Given the description of an element on the screen output the (x, y) to click on. 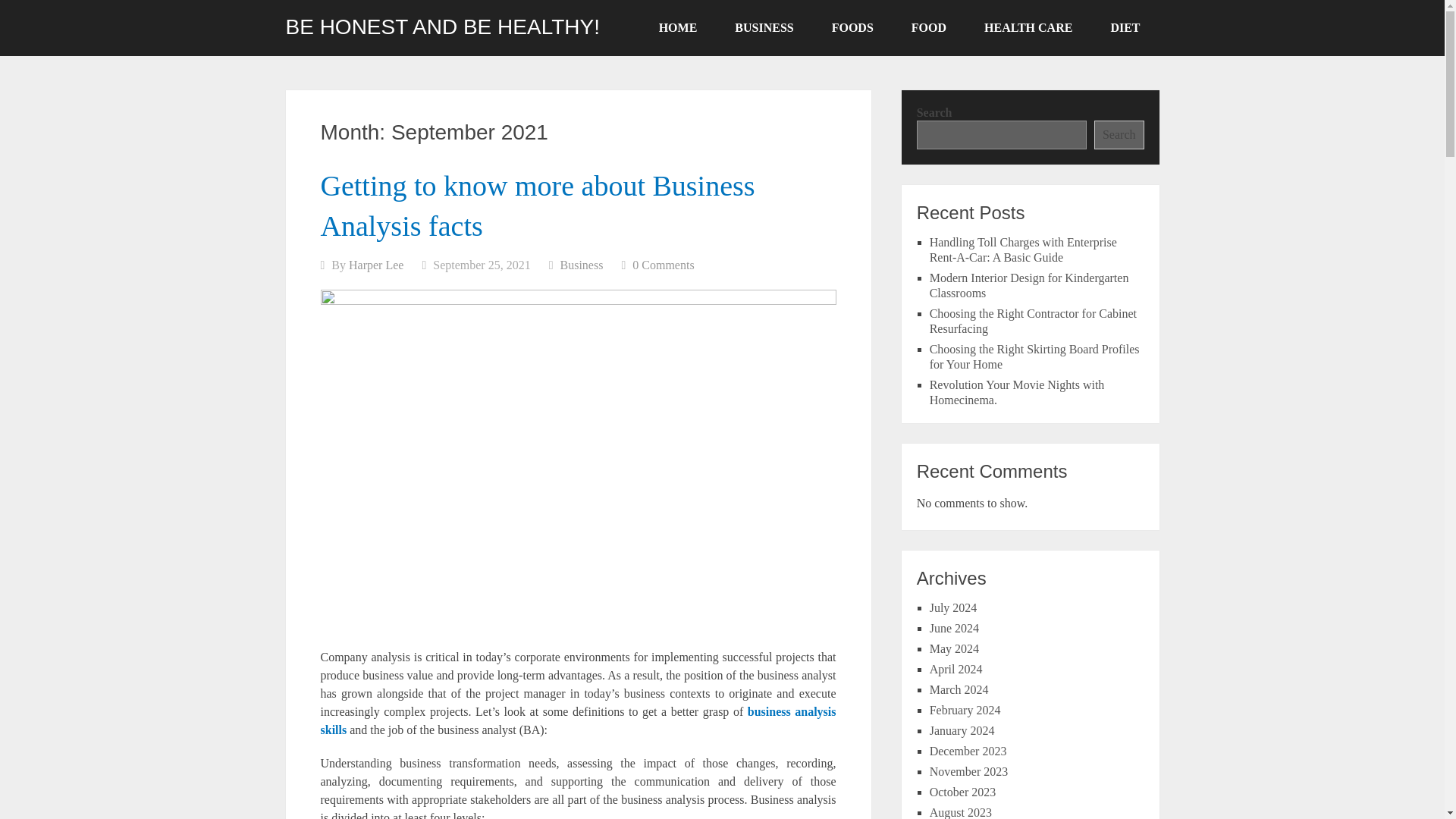
DIET (1124, 28)
May 2024 (954, 648)
Modern Interior Design for Kindergarten Classrooms (1029, 285)
FOODS (852, 28)
Search (1119, 134)
March 2024 (959, 689)
July 2024 (953, 607)
Harper Lee (376, 264)
April 2024 (956, 668)
Choosing the Right Skirting Board Profiles for Your Home (1035, 357)
HOME (678, 28)
Choosing the Right Contractor for Cabinet Resurfacing (1033, 320)
Revolution Your Movie Nights with Homecinema. (1017, 392)
December 2023 (968, 750)
